Given the description of an element on the screen output the (x, y) to click on. 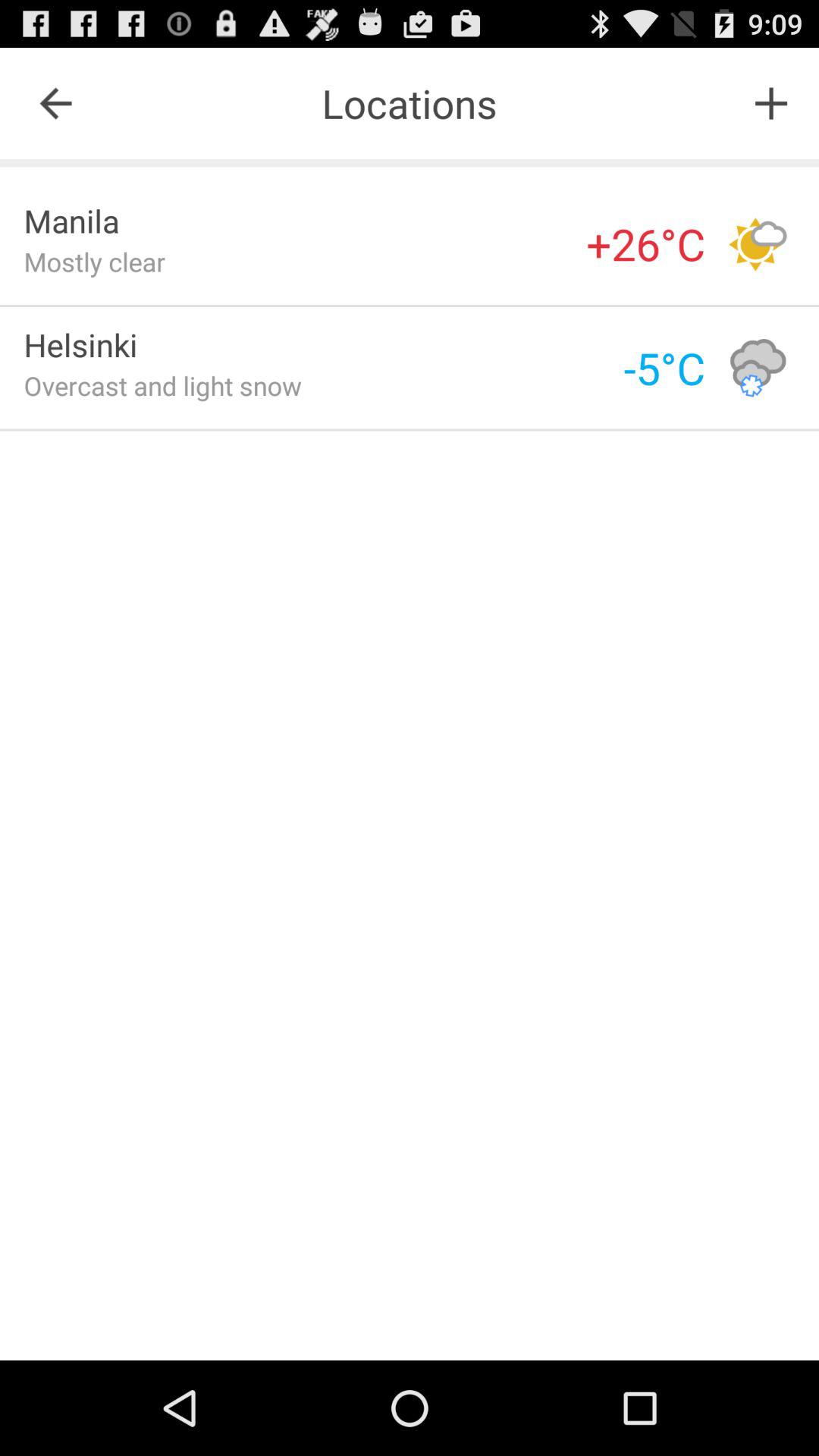
turn off item above manila (55, 103)
